Given the description of an element on the screen output the (x, y) to click on. 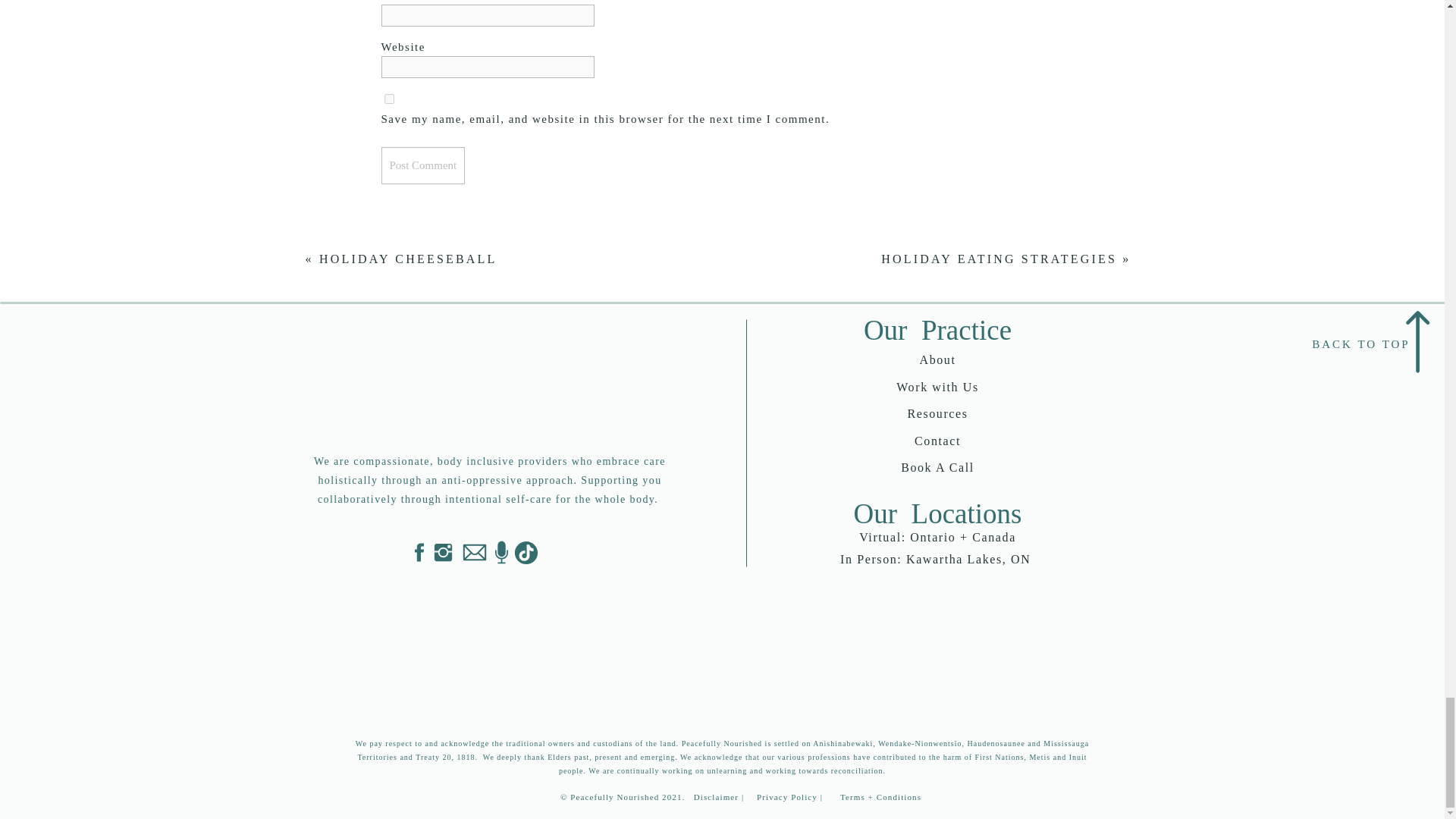
yes (388, 99)
Post Comment (422, 165)
